Given the description of an element on the screen output the (x, y) to click on. 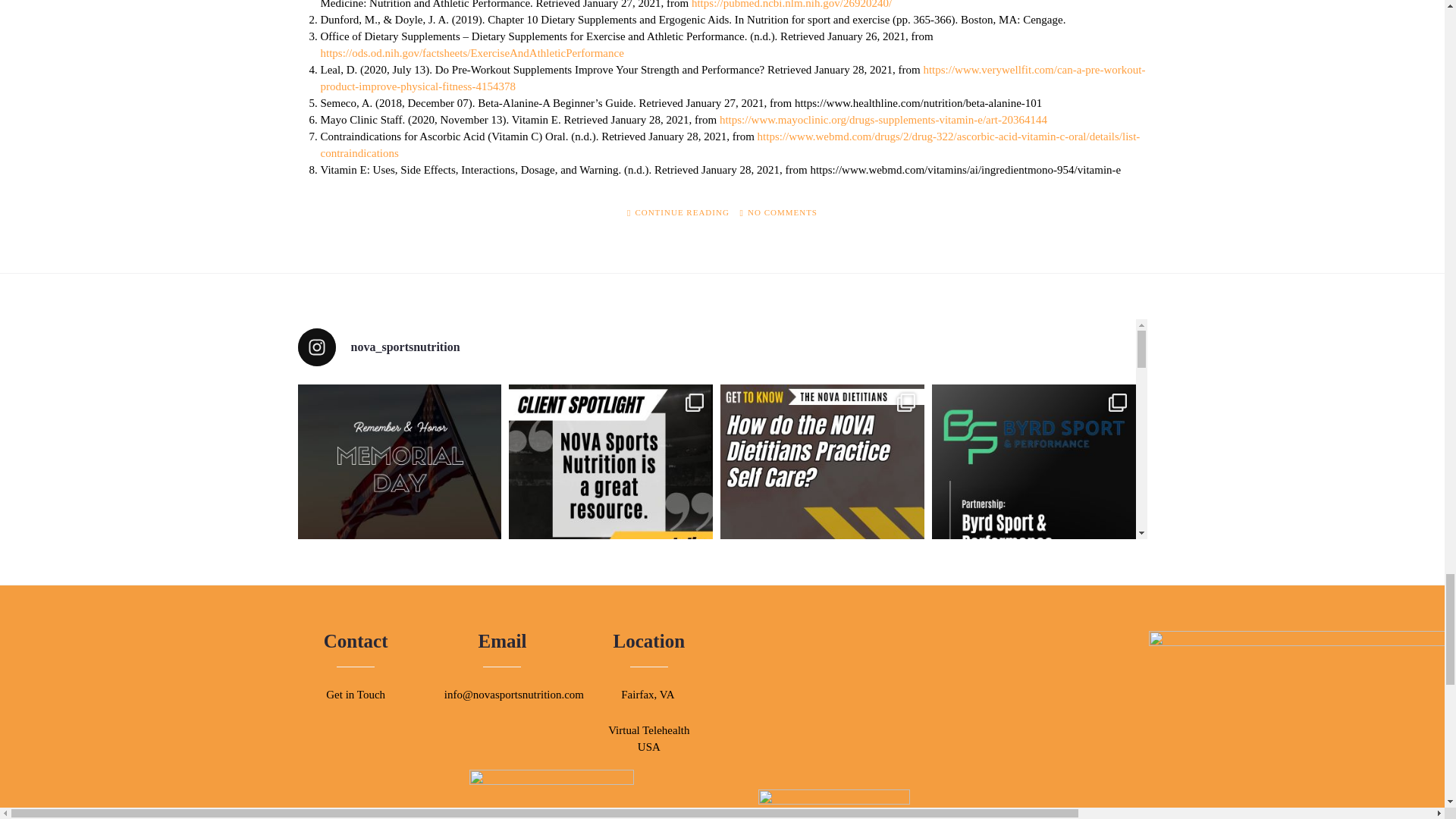
5 Sports Supplements NOT to Take (678, 212)
